Given the description of an element on the screen output the (x, y) to click on. 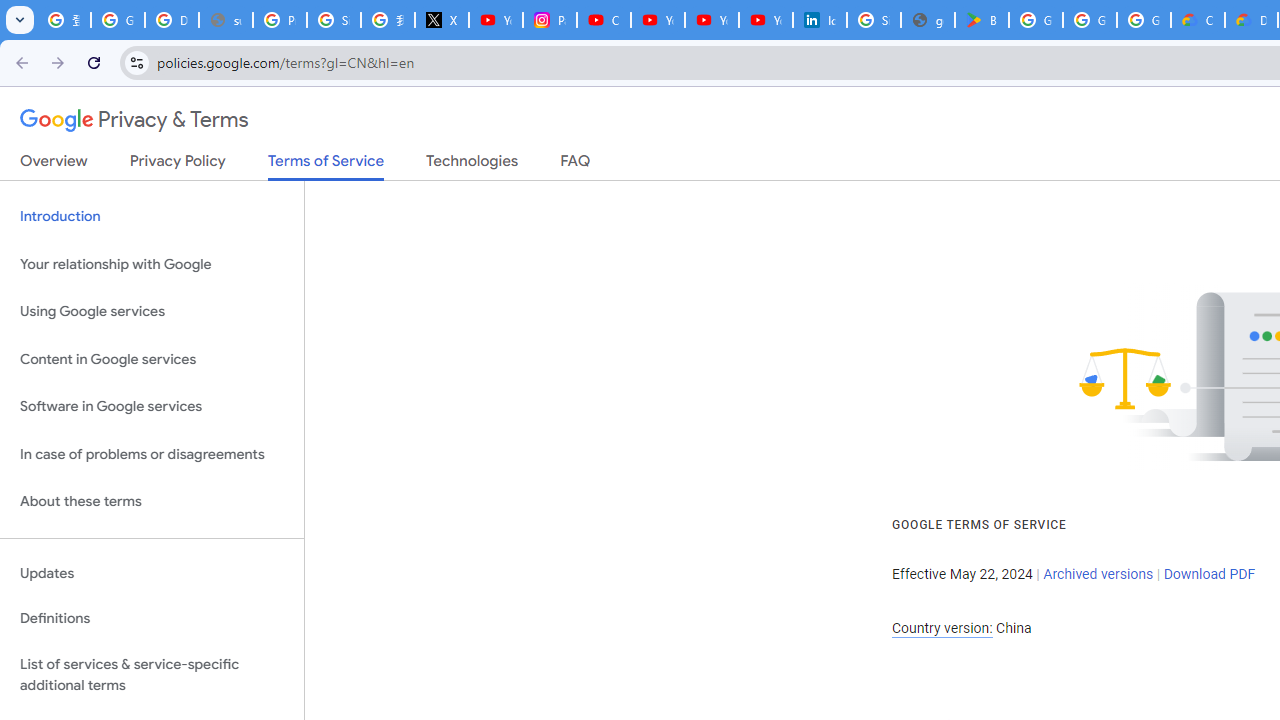
Sign in - Google Accounts (333, 20)
X (441, 20)
Google Workspace - Specific Terms (1089, 20)
Privacy Help Center - Policies Help (280, 20)
Download PDF (1209, 574)
support.google.com - Network error (225, 20)
